Given the description of an element on the screen output the (x, y) to click on. 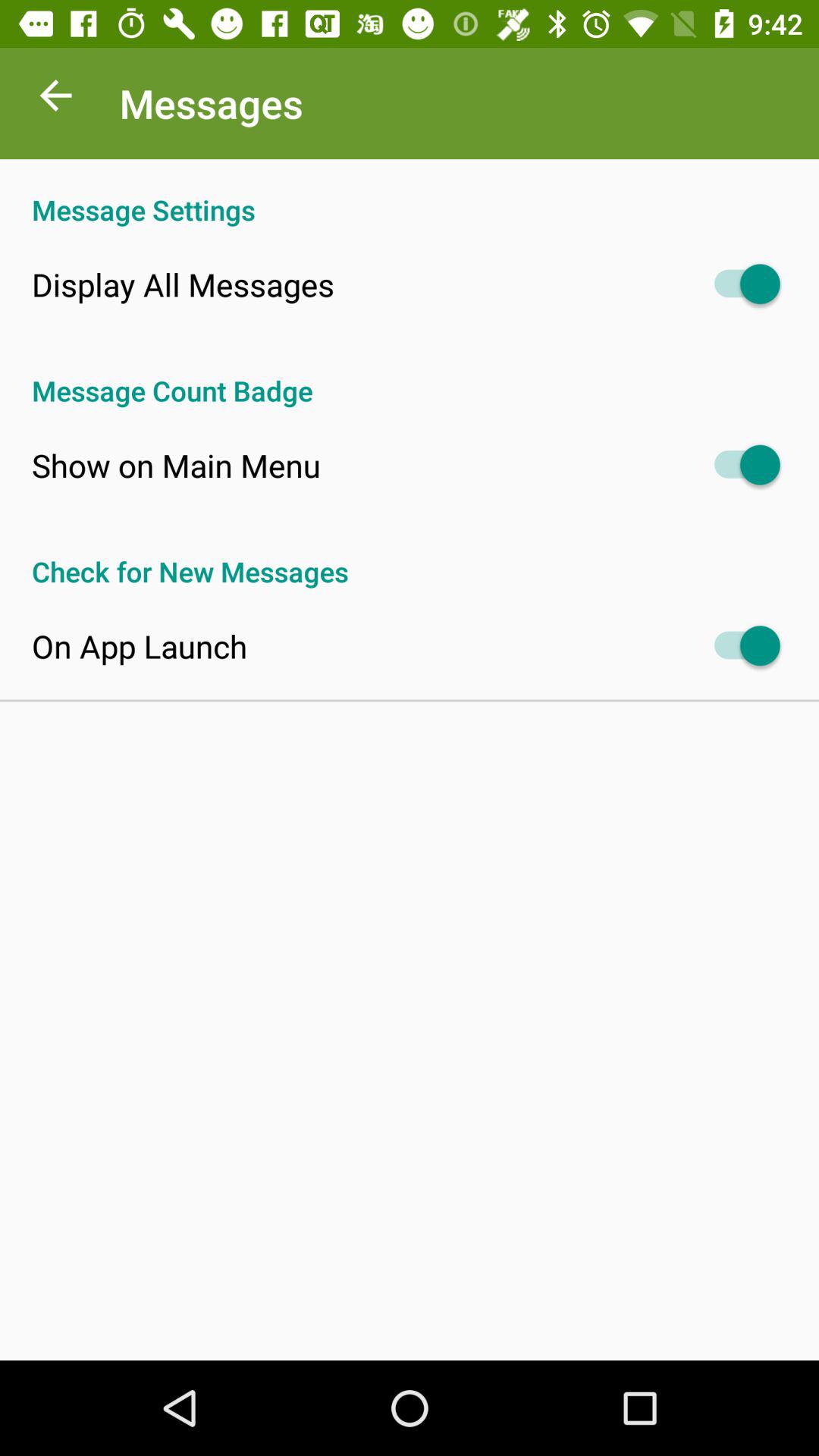
scroll until the message count badge icon (409, 374)
